Given the description of an element on the screen output the (x, y) to click on. 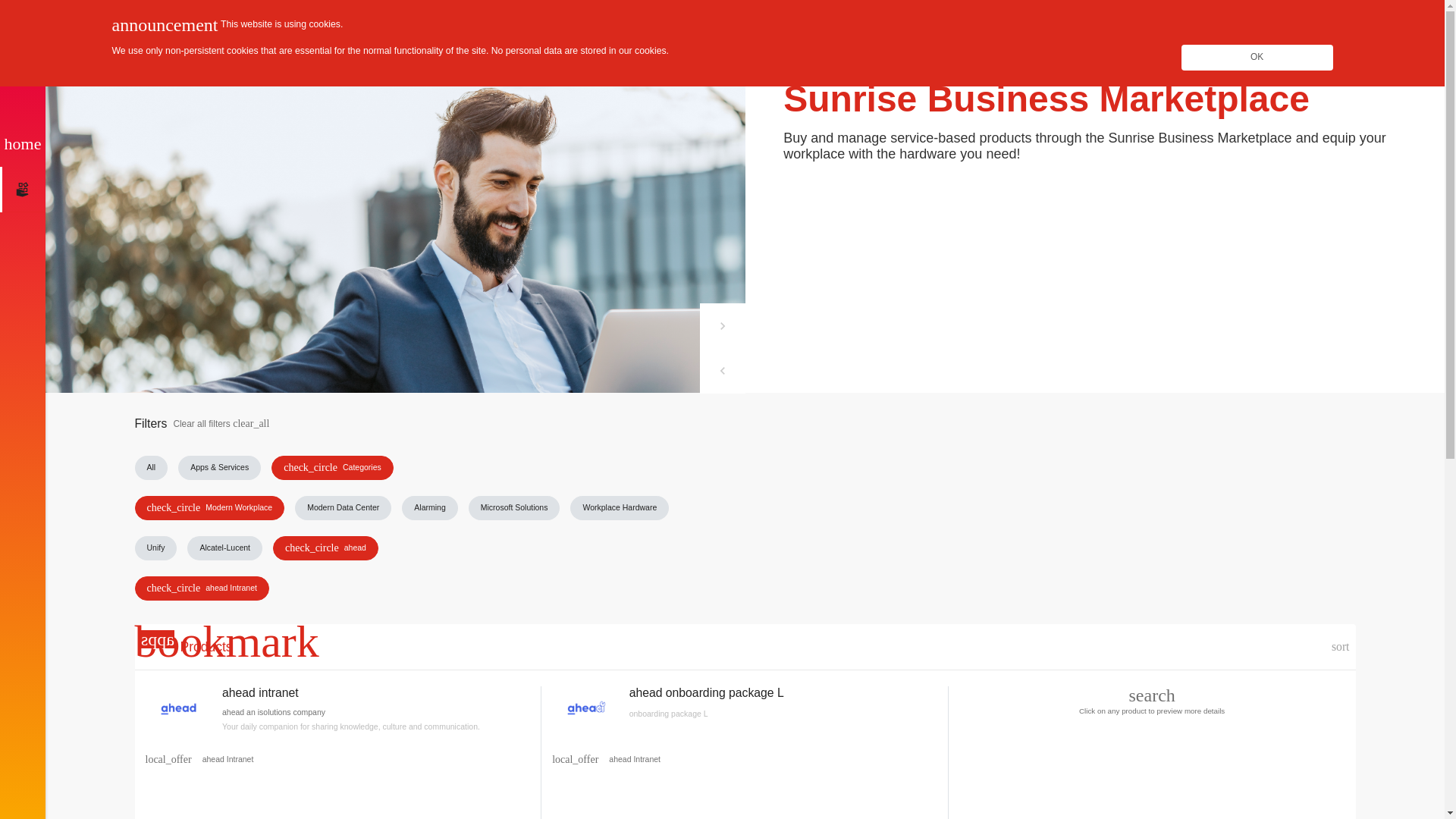
Next (721, 325)
Sunrise Work Smart Marketplace (76, 22)
ahead Intranet Category (634, 759)
Modern Data Center (343, 508)
Unify (156, 548)
Microsoft Solutions (514, 508)
Register (1200, 22)
Category (168, 759)
Alarming (429, 508)
Category (574, 759)
